Given the description of an element on the screen output the (x, y) to click on. 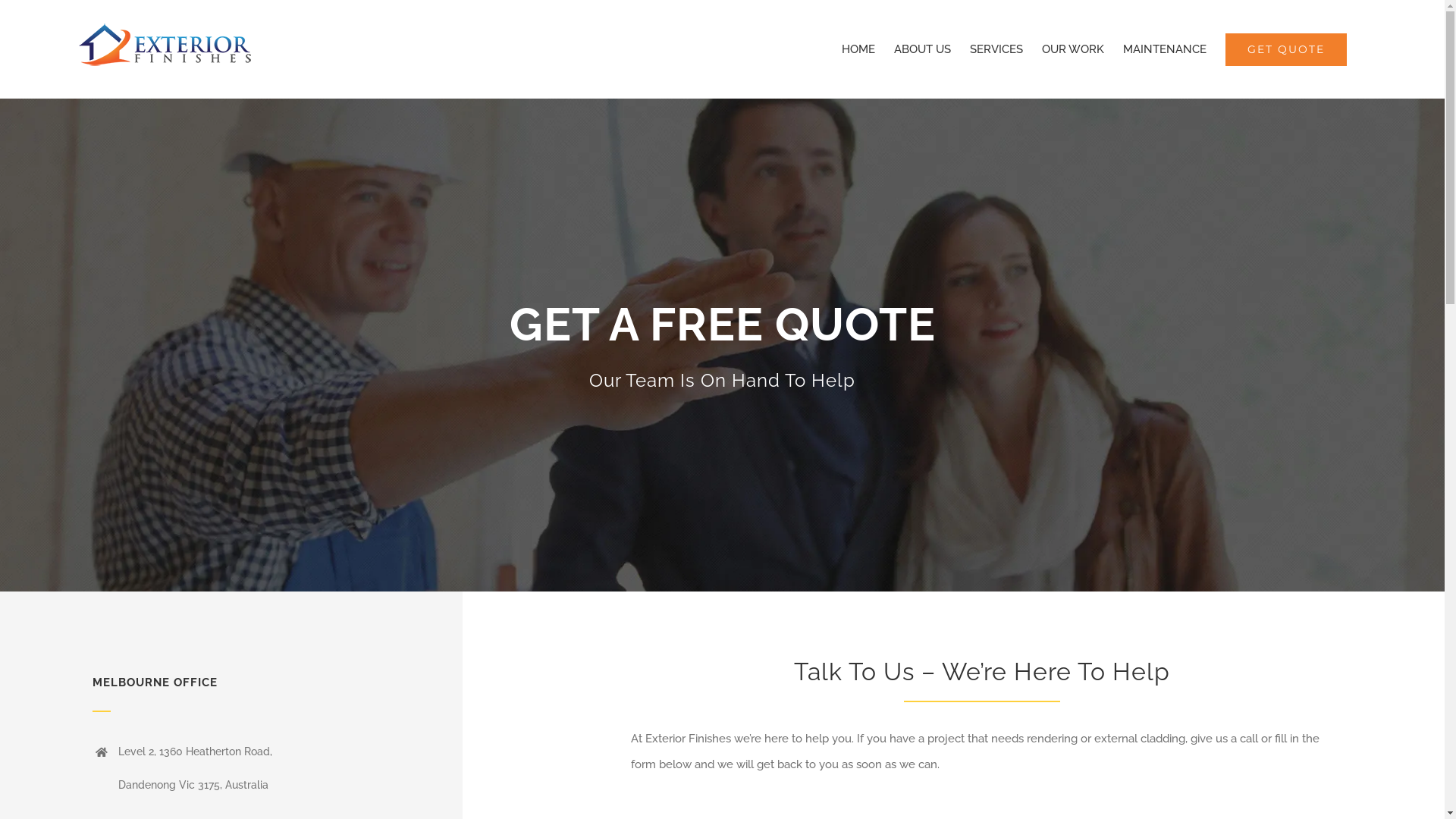
ABOUT US Element type: text (922, 49)
GET QUOTE Element type: text (1285, 49)
HOME Element type: text (858, 49)
SERVICES Element type: text (995, 49)
MAINTENANCE Element type: text (1164, 49)
OUR WORK Element type: text (1072, 49)
